Given the description of an element on the screen output the (x, y) to click on. 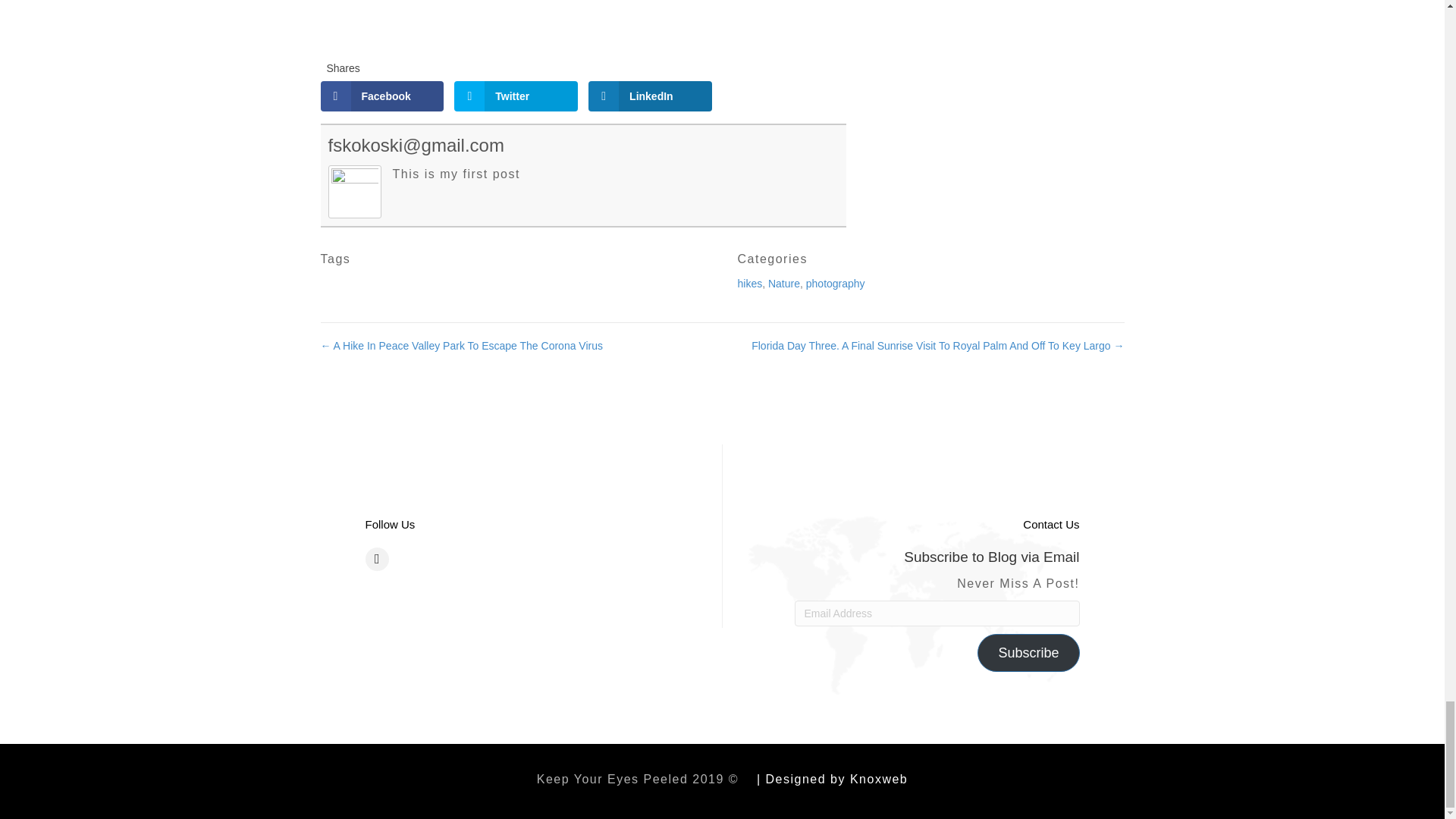
LinkedIn (649, 96)
Twitter (516, 96)
Facebook (382, 96)
